Given the description of an element on the screen output the (x, y) to click on. 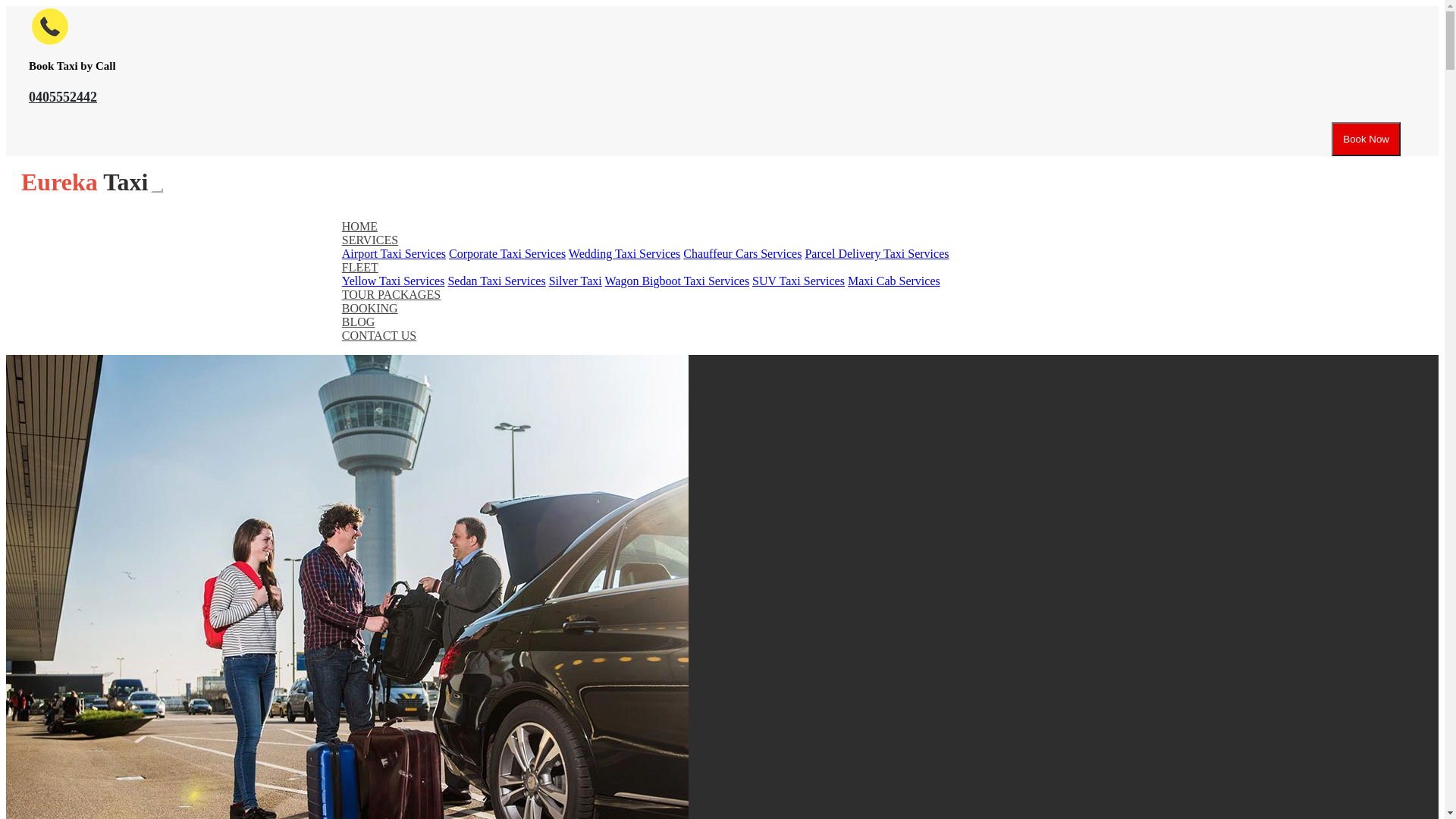
Book Now Element type: text (1365, 137)
Sedan Taxi Services Element type: text (496, 280)
Maxi Cab Services Element type: text (893, 280)
Yellow Taxi Services Element type: text (393, 280)
Book Now Element type: text (1365, 139)
Airport Taxi Services Element type: text (393, 253)
FLEET Element type: text (360, 266)
BOOKING Element type: text (370, 307)
Silver Taxi Element type: text (575, 280)
CONTACT US Element type: text (379, 335)
Eureka Taxi Element type: text (76, 181)
BLOG Element type: text (358, 321)
TOUR PACKAGES Element type: text (391, 294)
Wagon Bigboot Taxi Services Element type: text (677, 280)
0405552442 Element type: text (62, 96)
SERVICES Element type: text (370, 239)
Corporate Taxi Services Element type: text (506, 253)
HOME Element type: text (359, 225)
Chauffeur Cars Services Element type: text (742, 253)
SUV Taxi Services Element type: text (798, 280)
Parcel Delivery Taxi Services Element type: text (876, 253)
Wedding Taxi Services Element type: text (624, 253)
